Given the description of an element on the screen output the (x, y) to click on. 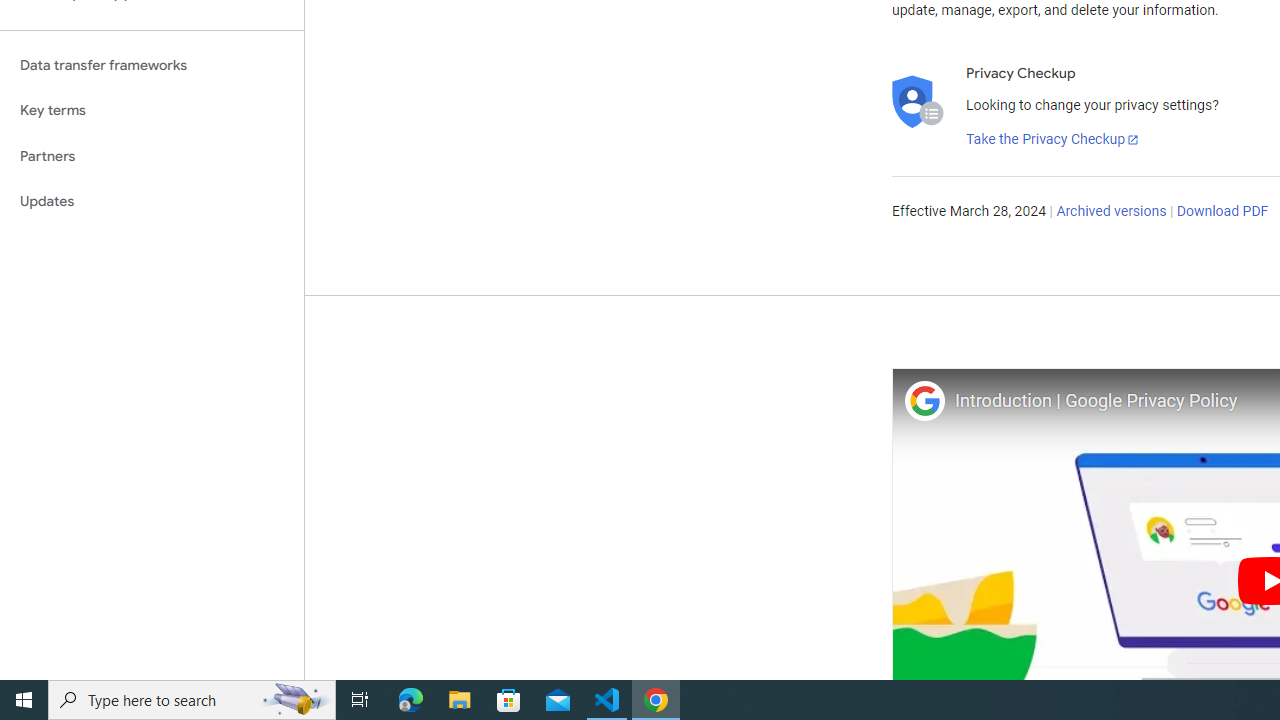
Key terms (152, 110)
Archived versions (1111, 212)
Take the Privacy Checkup (1053, 140)
Partners (152, 156)
Data transfer frameworks (152, 65)
Photo image of Google (924, 400)
Download PDF (1222, 212)
